Given the description of an element on the screen output the (x, y) to click on. 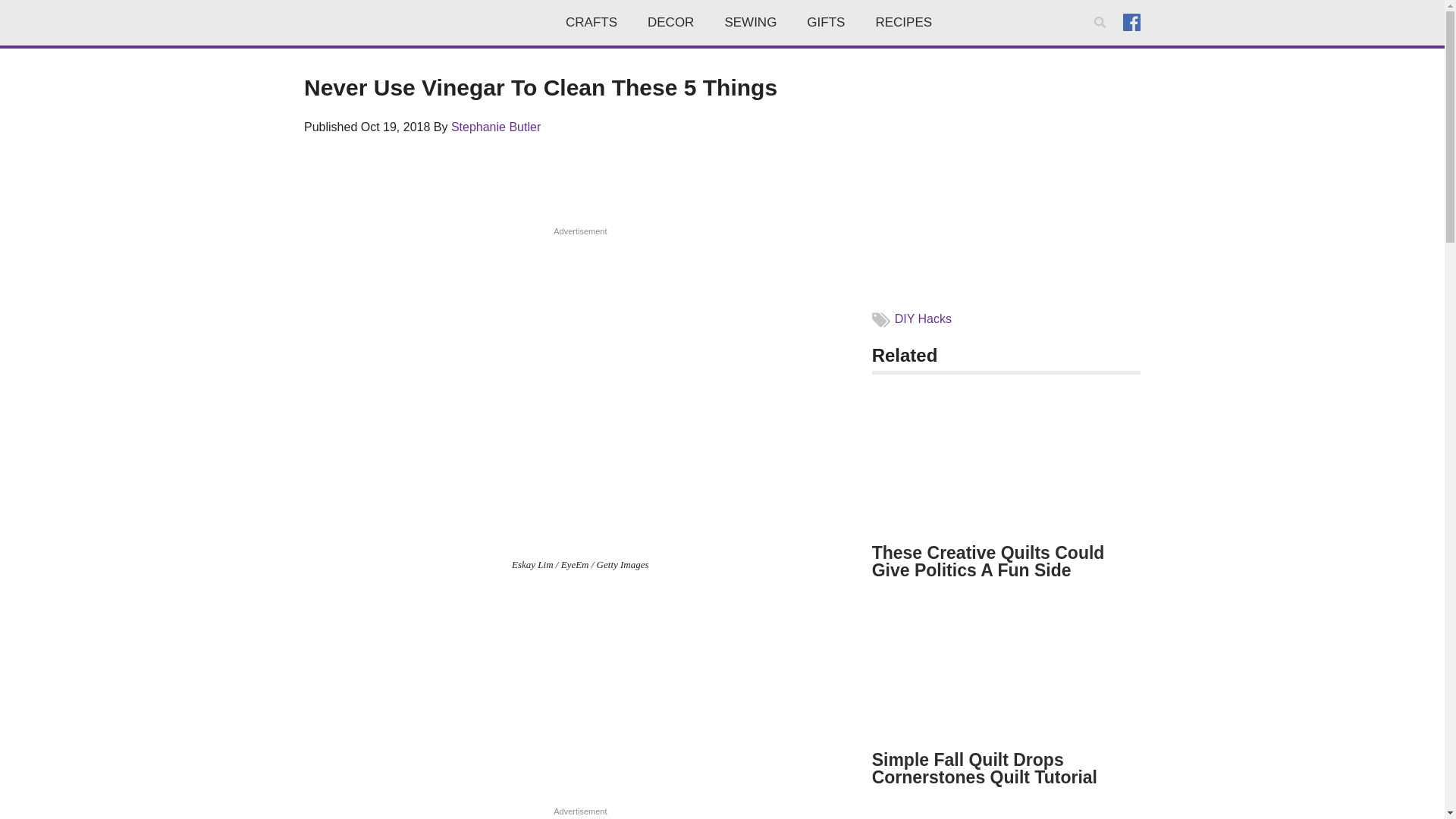
DIY Ways on Facebook (1131, 21)
CRAFTS (590, 22)
GIFTS (826, 22)
Search (1102, 42)
Stephanie Butler (495, 126)
These Creative Quilts Could Give Politics A Fun Side (988, 560)
DIY Hacks (923, 318)
DECOR (670, 22)
SEWING (750, 22)
Search (1102, 42)
